Given the description of an element on the screen output the (x, y) to click on. 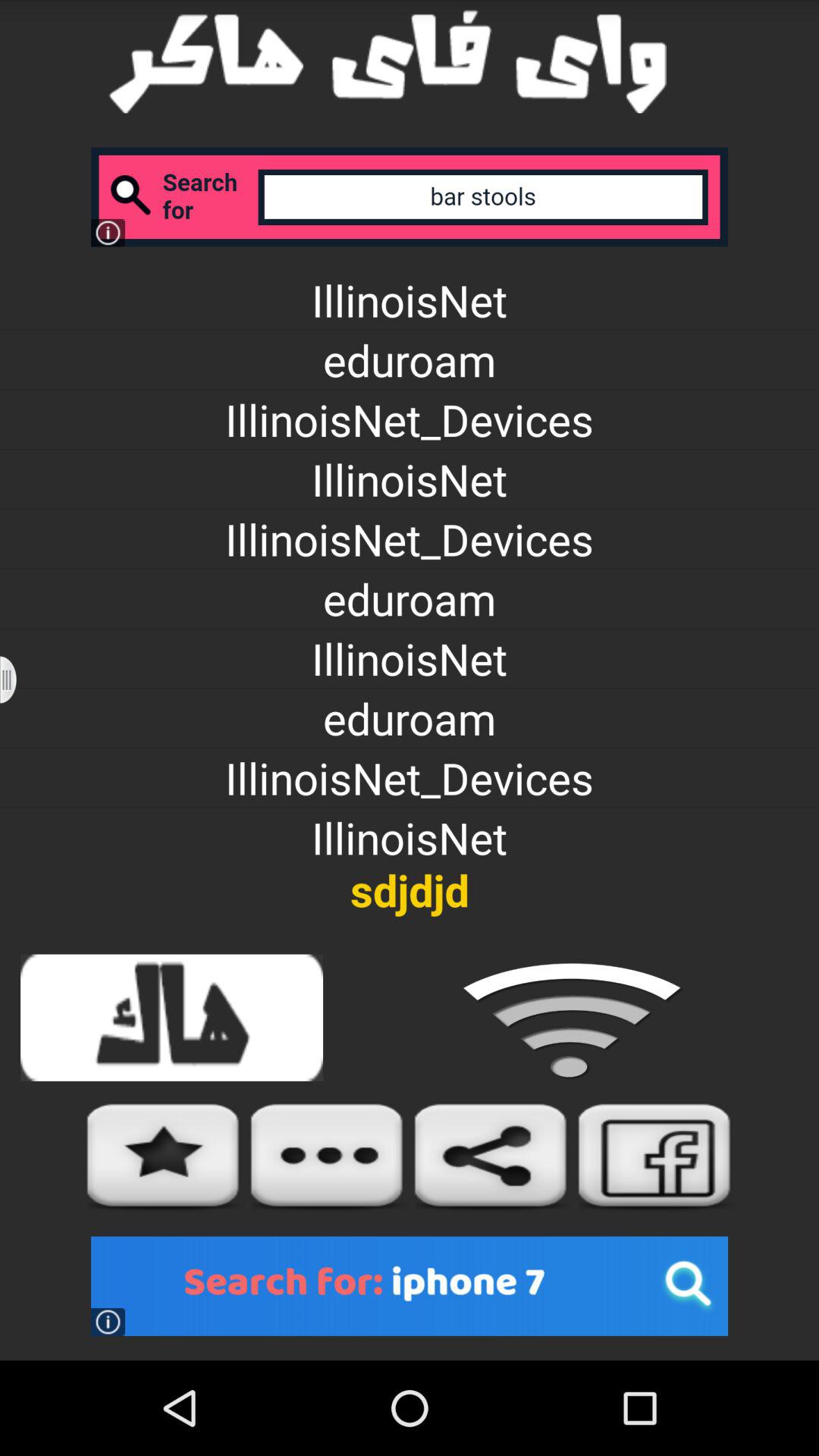
go to previous (18, 679)
